Given the description of an element on the screen output the (x, y) to click on. 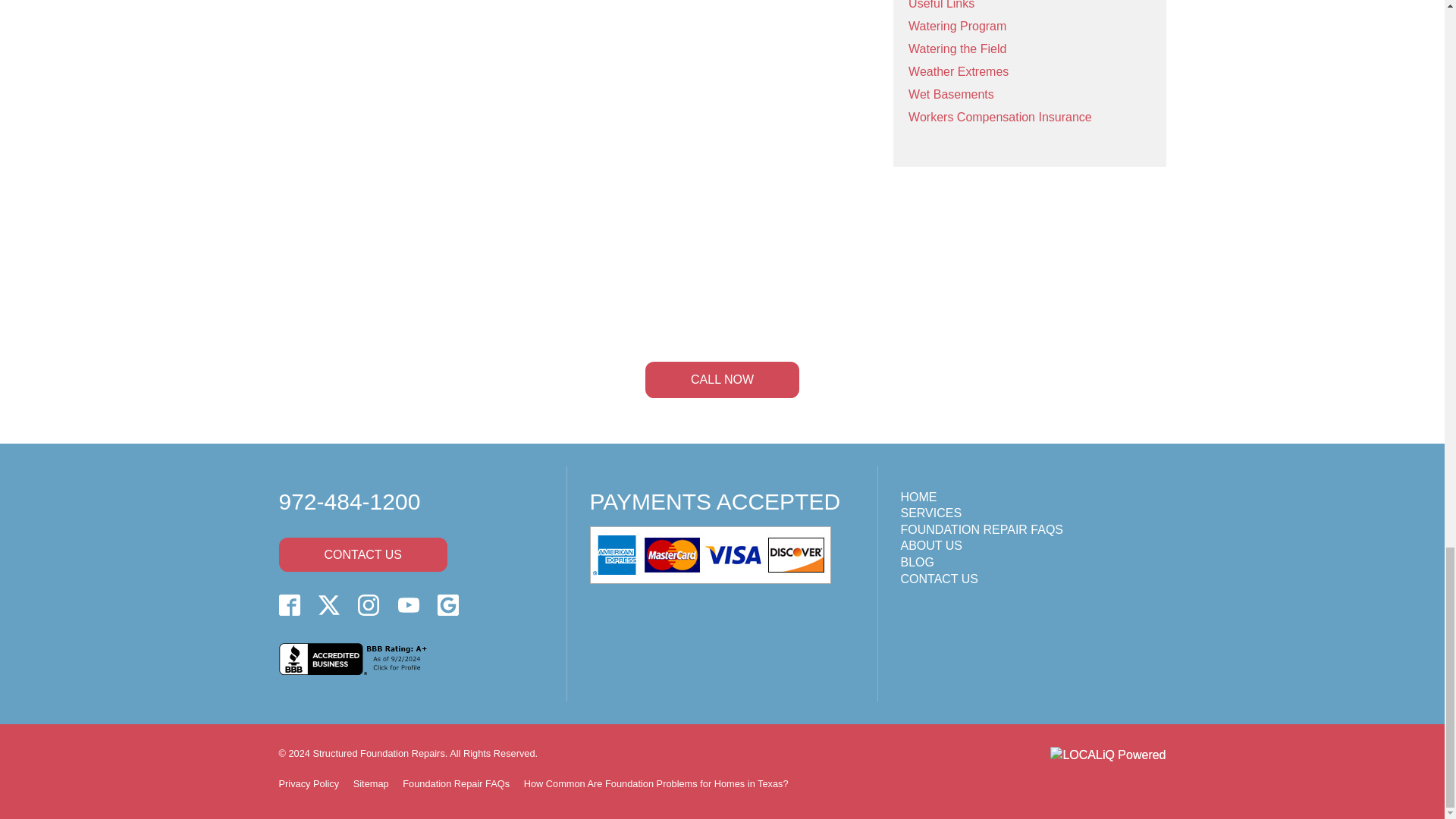
facebook (289, 604)
twitter (328, 604)
youtube (408, 604)
google (448, 604)
instagram (368, 604)
